Given the description of an element on the screen output the (x, y) to click on. 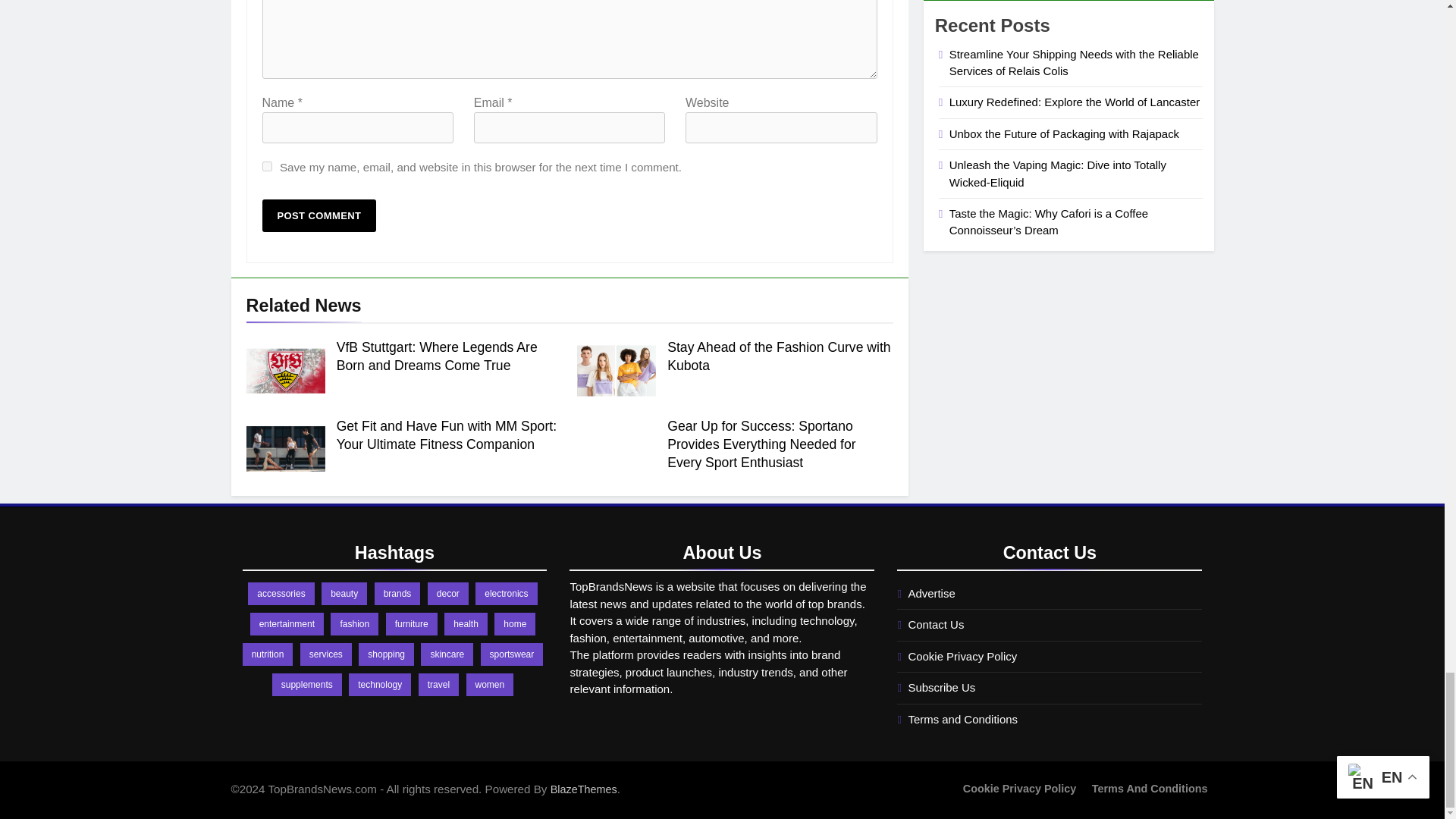
Post Comment (319, 215)
yes (267, 166)
